Given the description of an element on the screen output the (x, y) to click on. 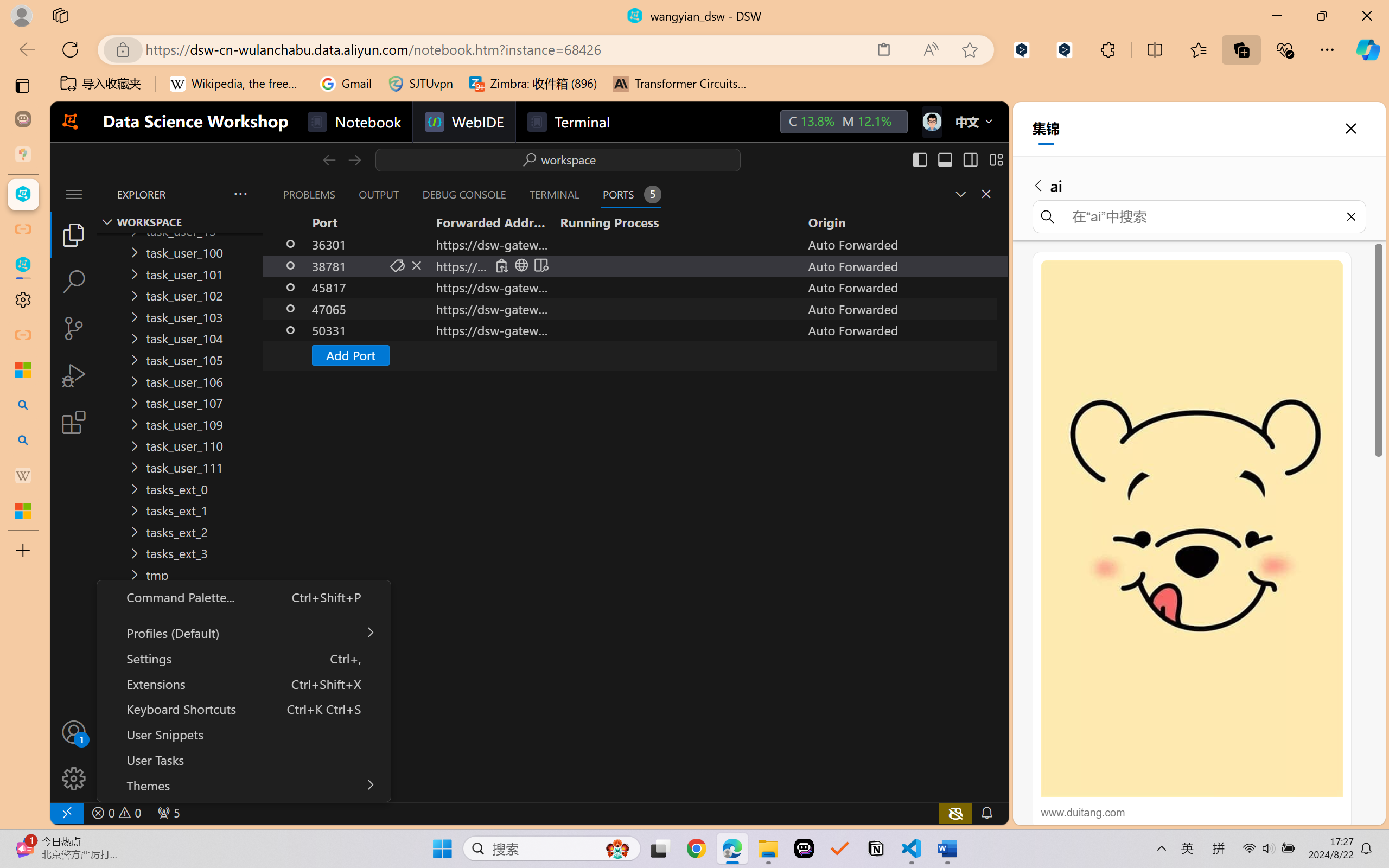
Themes (243, 784)
Explorer (Ctrl+Shift+E) (73, 234)
No Problems (115, 812)
Copilot (Ctrl+Shift+.) (1368, 49)
wangyian_dsw - DSW (22, 194)
Class: actions-container (243, 690)
Output (Ctrl+Shift+U) (377, 194)
Command Palette... Ctrl+Shift+P (243, 596)
Explorer Section: workspace (179, 221)
User Snippets (243, 734)
Add Port (635, 355)
